Given the description of an element on the screen output the (x, y) to click on. 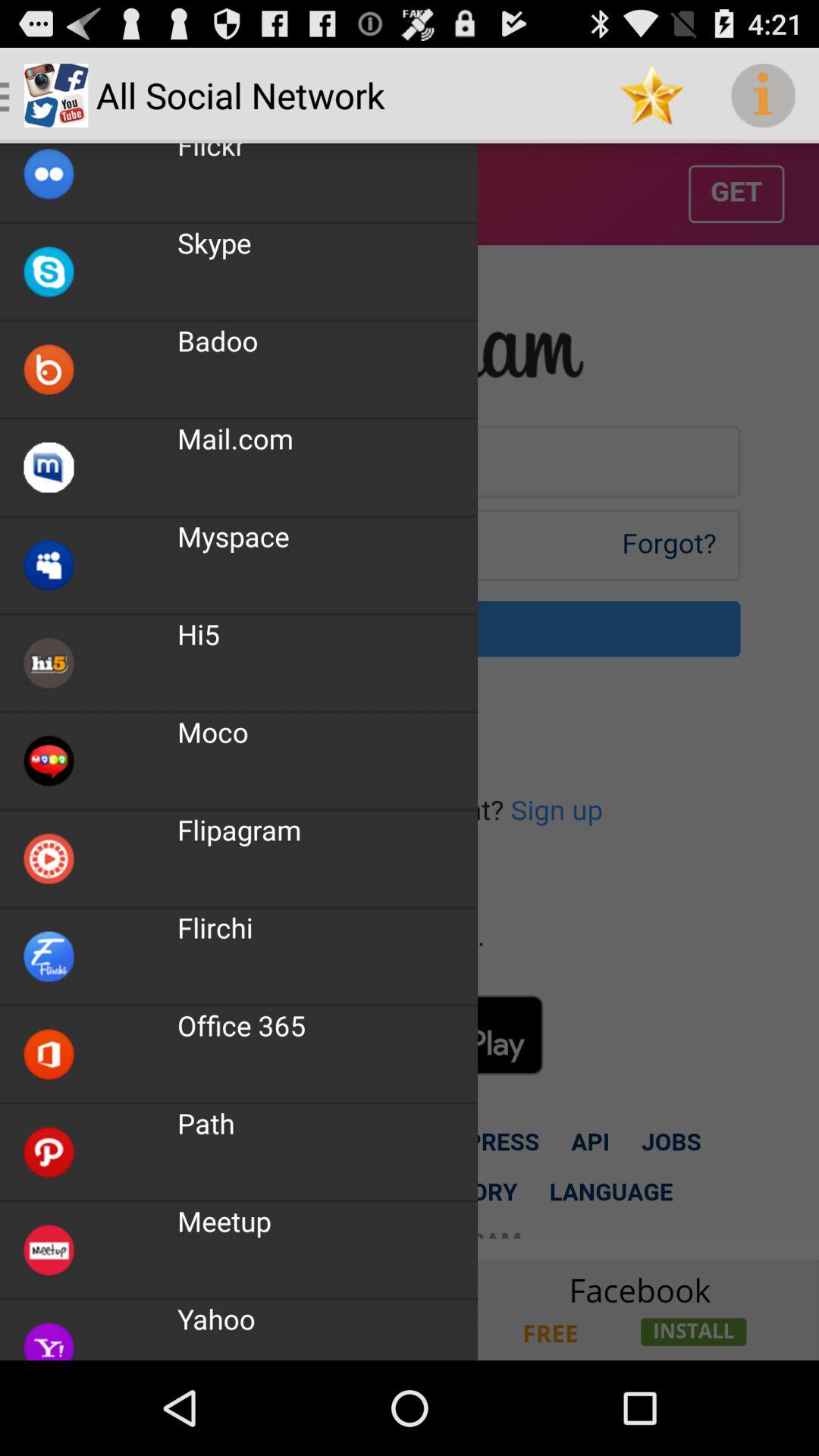
turn on the icon above the moco item (198, 633)
